Given the description of an element on the screen output the (x, y) to click on. 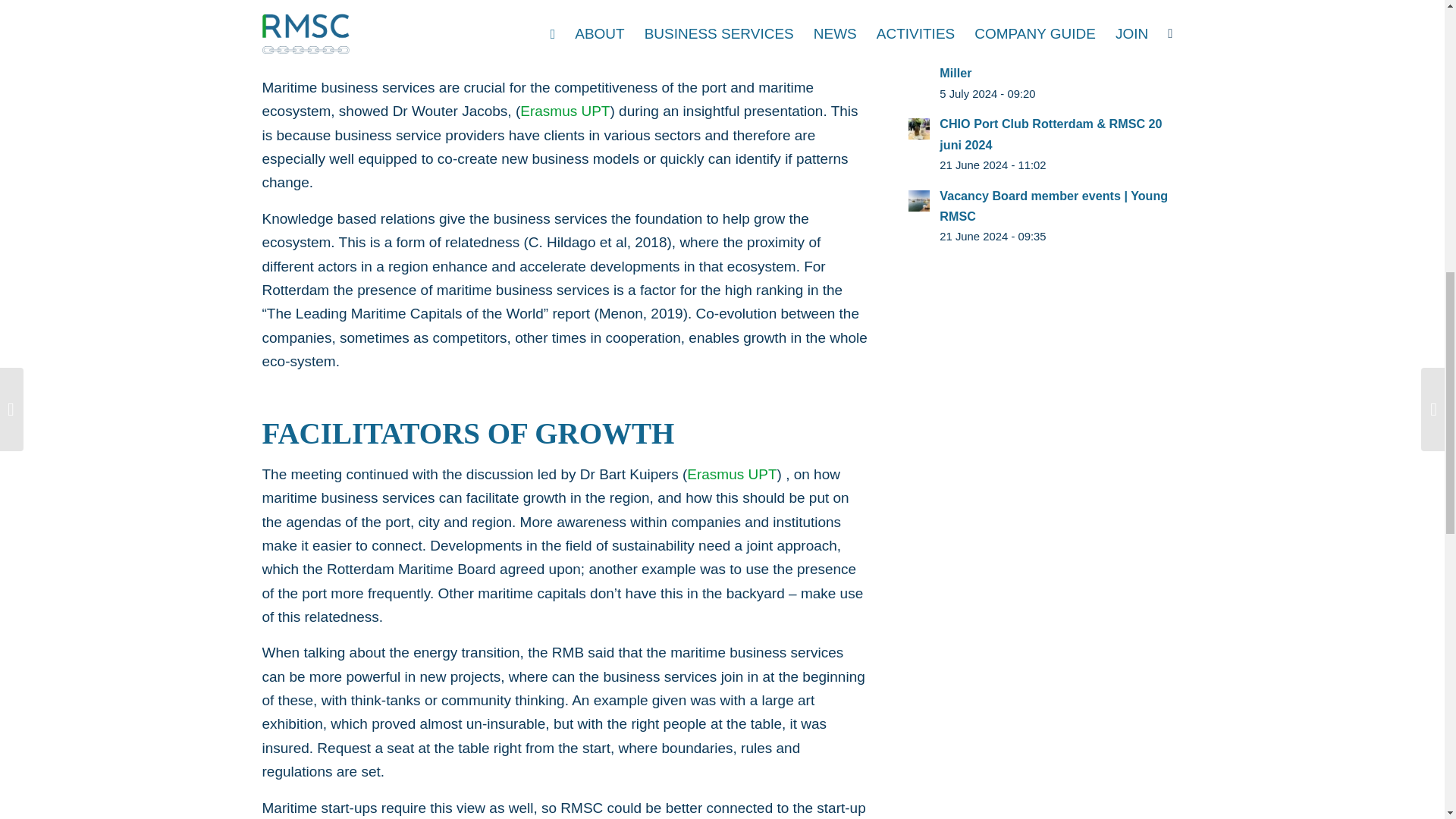
Erasmus UPT (564, 110)
Erasmus UPT (731, 474)
